Given the description of an element on the screen output the (x, y) to click on. 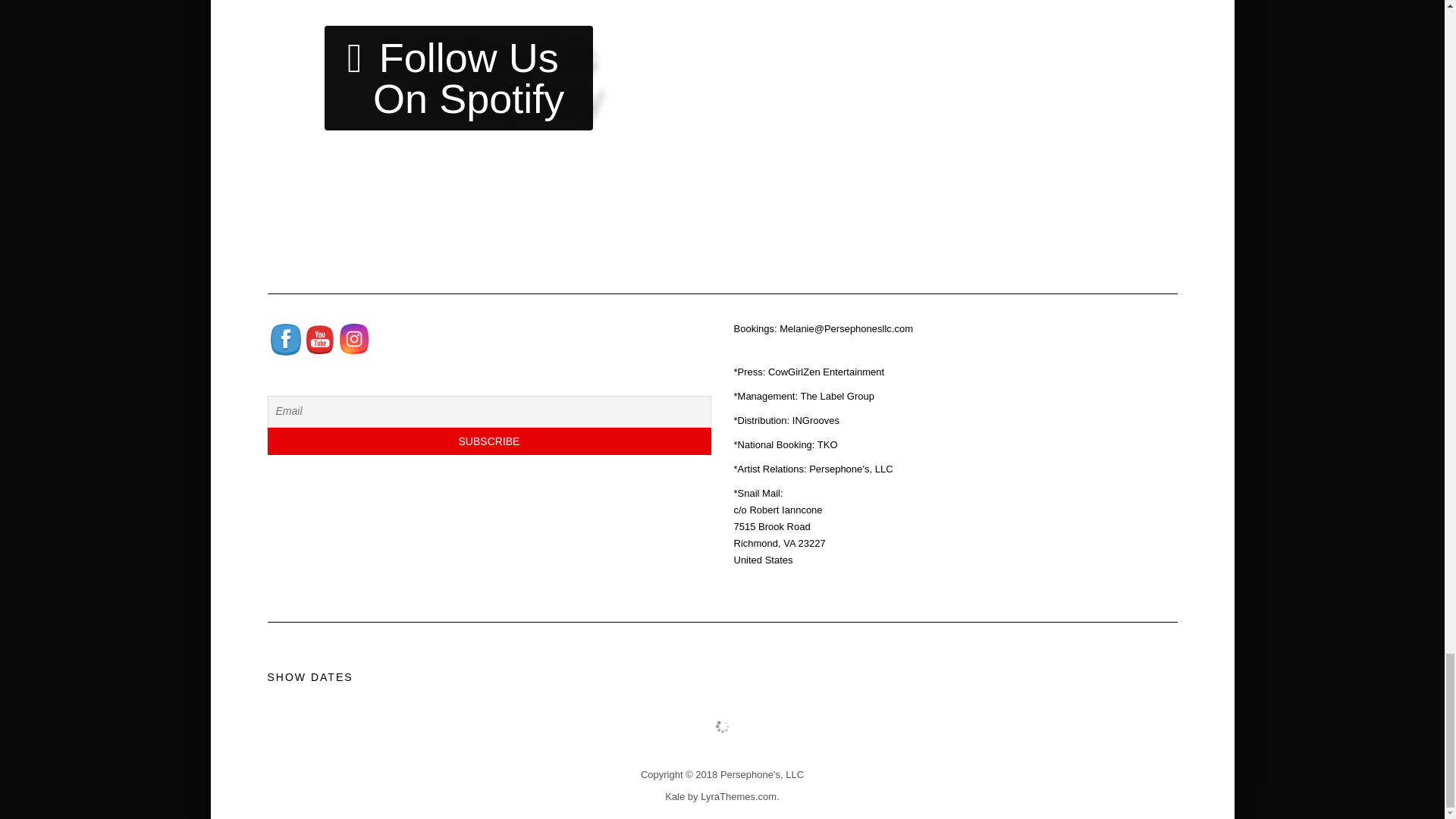
CowGirlZen Entertainment (825, 371)
Subscribe (488, 441)
YouTube (319, 338)
Subscribe (488, 441)
Follow Us On Spotify (458, 77)
Facebook (284, 339)
Instagram (352, 338)
